Given the description of an element on the screen output the (x, y) to click on. 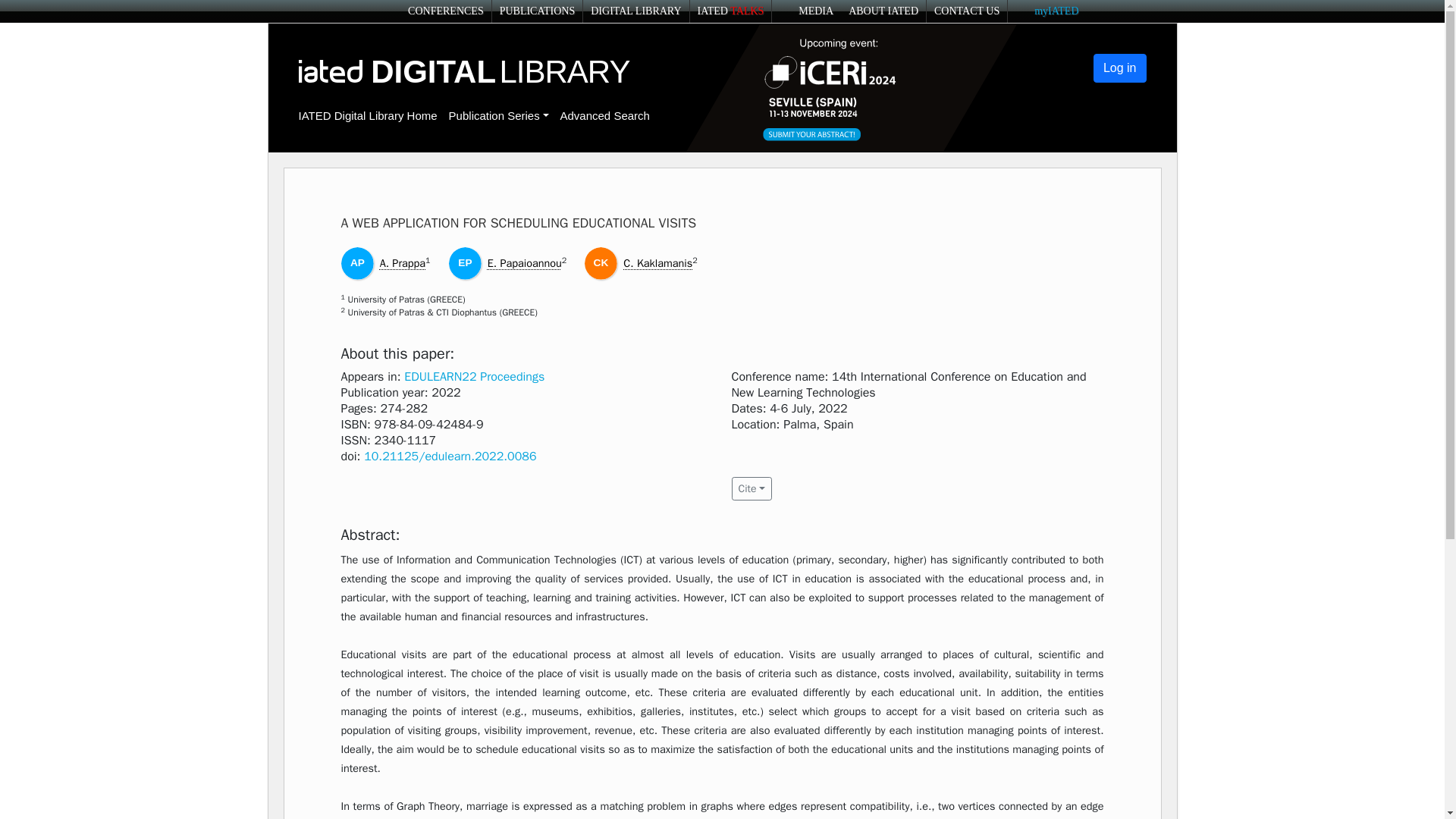
CONFERENCES (445, 10)
C. Kaklamanis (658, 263)
IATED Digital Library Home (368, 115)
Advanced Search (604, 115)
E. Papaioannou (524, 263)
Publication Series (498, 115)
IATED TALKS (730, 10)
A. Prappa (402, 263)
MEDIA (805, 11)
DIGITAL LIBRARY (636, 10)
